Given the description of an element on the screen output the (x, y) to click on. 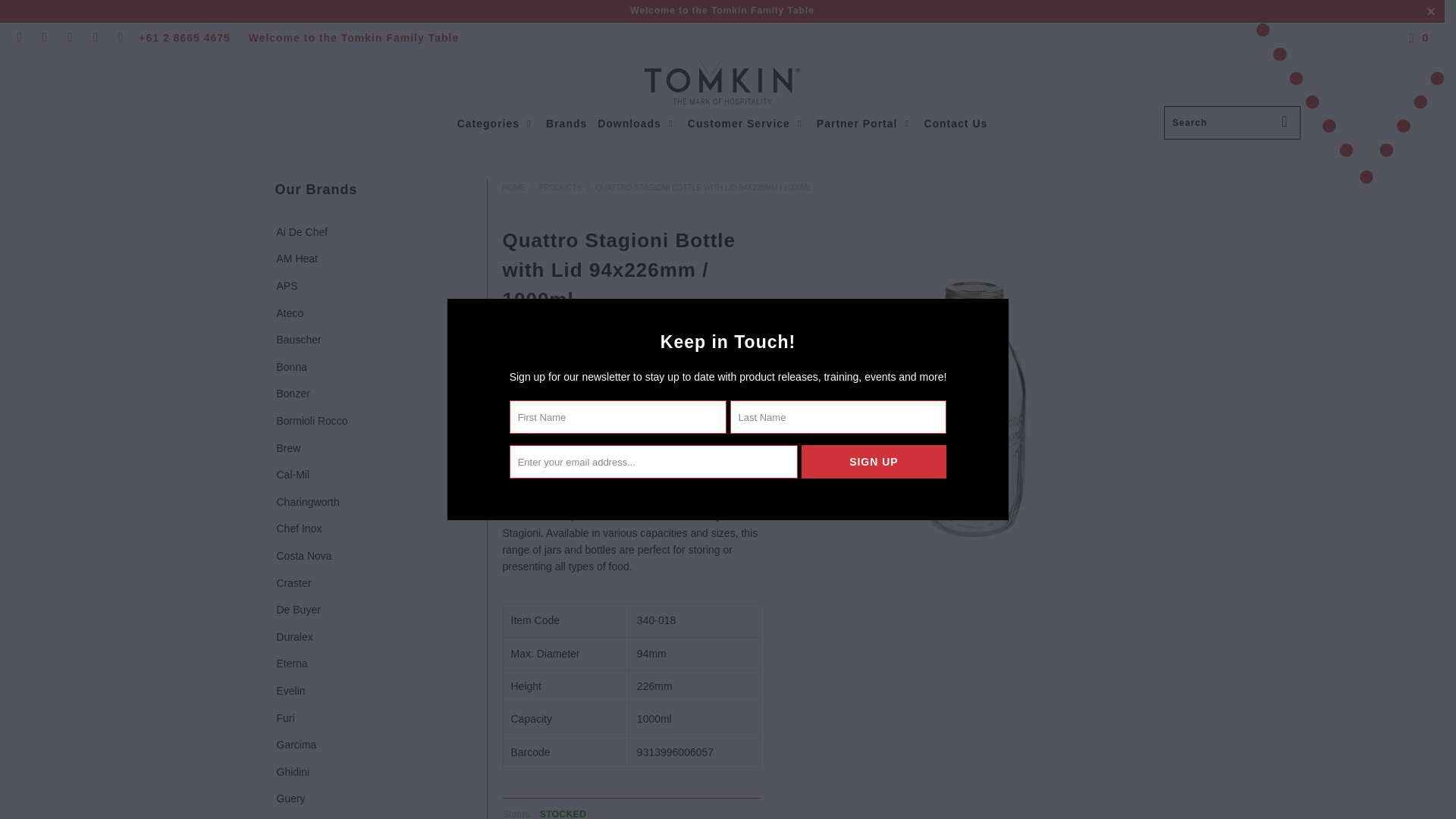
APS (286, 286)
Tomkin Australia on Pinterest (69, 37)
Ai De Chef (301, 232)
AM Heat (296, 258)
Ateco (288, 313)
Tomkin Australia on YouTube (43, 37)
Tomkin Australia on LinkedIn (120, 37)
Sign Up (873, 461)
Tomkin Australia (722, 83)
Bonna (290, 367)
Tomkin Australia on Instagram (94, 37)
Tomkin Australia on Facebook (18, 37)
Welcome to the Tomkin Family Table (721, 9)
Bauscher (297, 340)
